Given the description of an element on the screen output the (x, y) to click on. 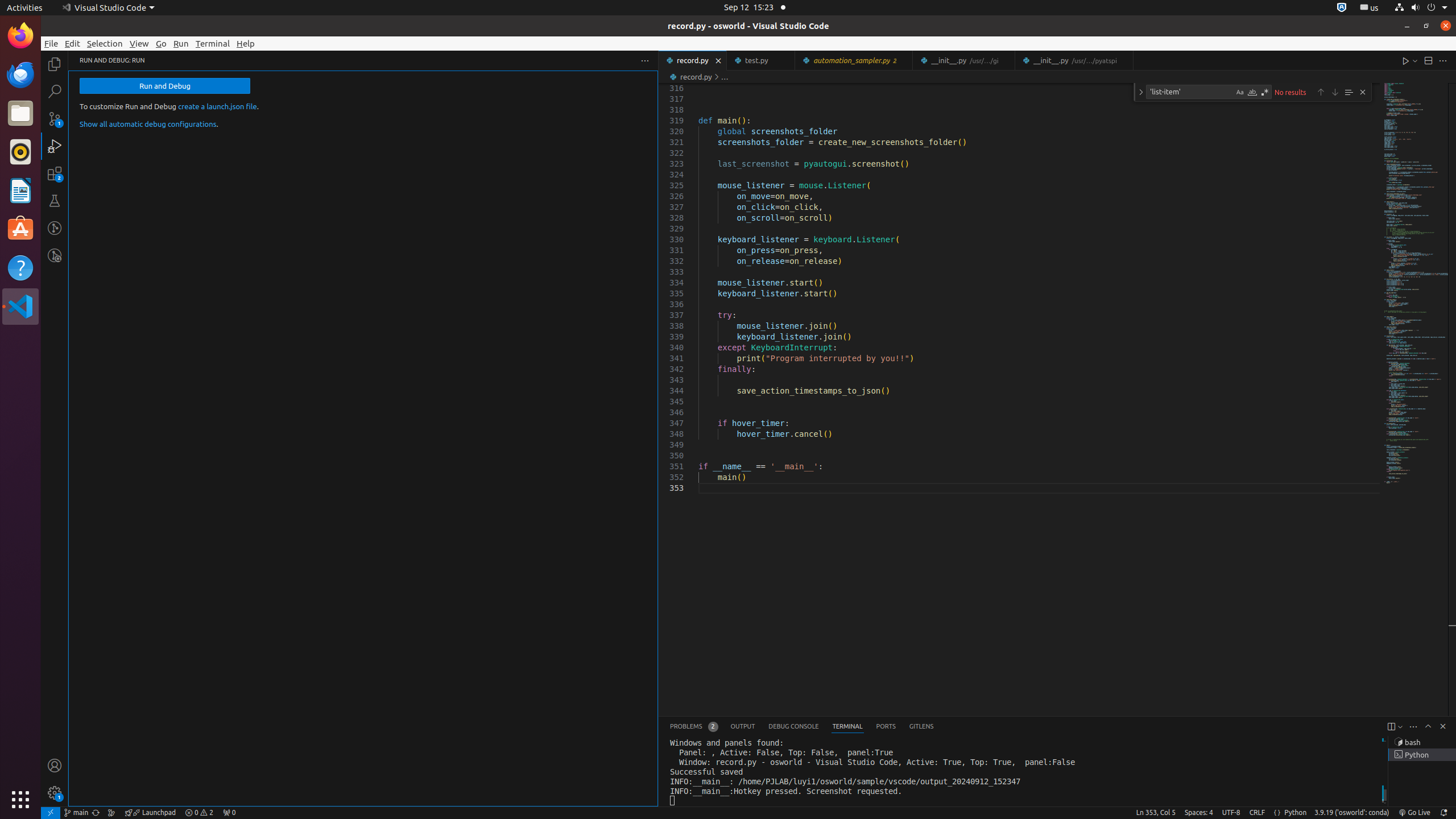
OSWorld (Git) - Synchronize Changes Element type: push-button (95, 812)
Editor Language Status: Auto Import Completions: false, next: Type Checking: off Element type: push-button (1277, 812)
Ports Element type: page-tab (885, 726)
Run Python File Element type: push-button (1405, 60)
